Given the description of an element on the screen output the (x, y) to click on. 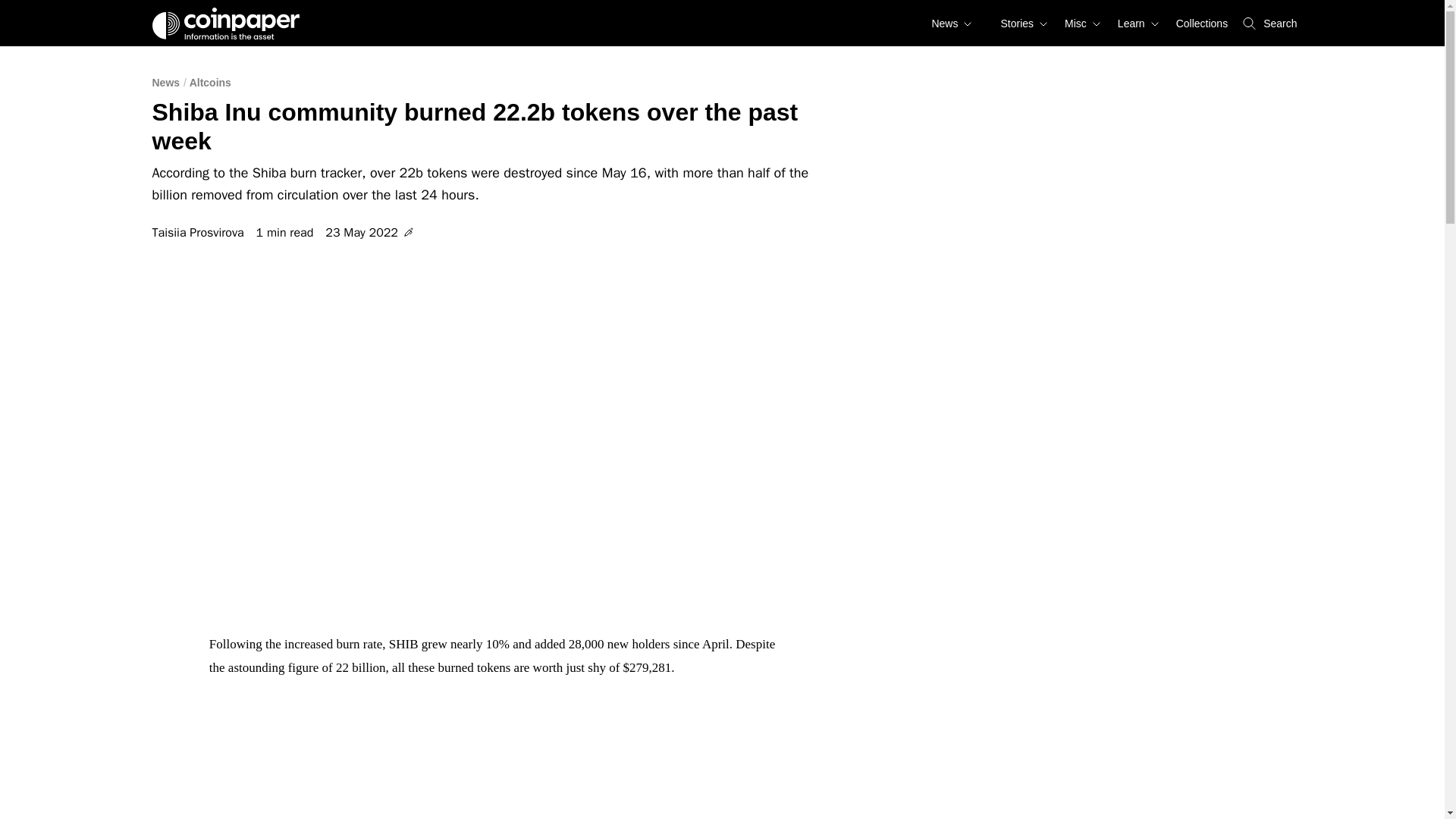
Source: shiba-burn-tracker.com (494, 772)
